Given the description of an element on the screen output the (x, y) to click on. 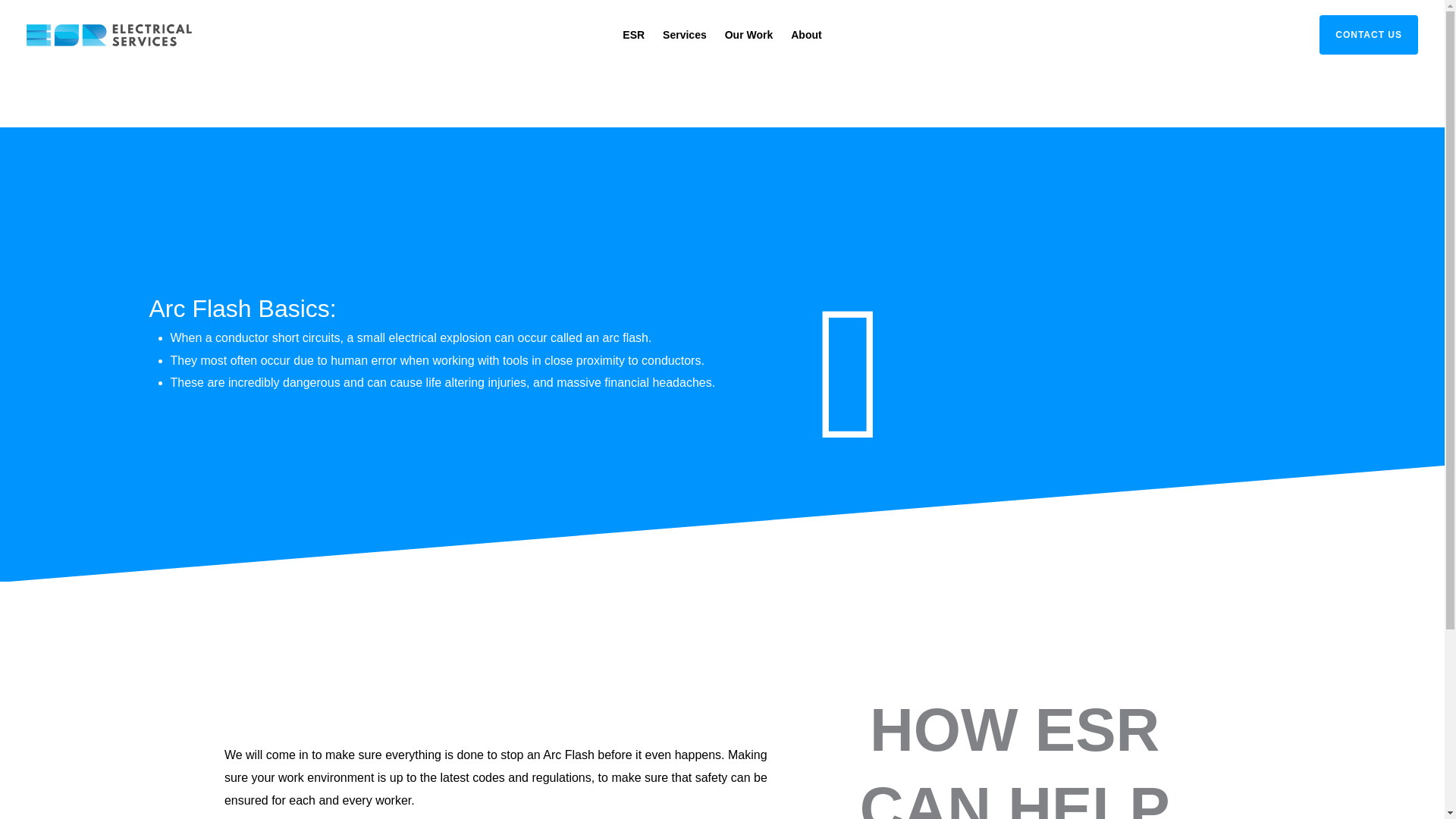
Our Work (749, 35)
Services (684, 35)
CONTACT US (1359, 34)
About (805, 35)
ESR (632, 35)
